Given the description of an element on the screen output the (x, y) to click on. 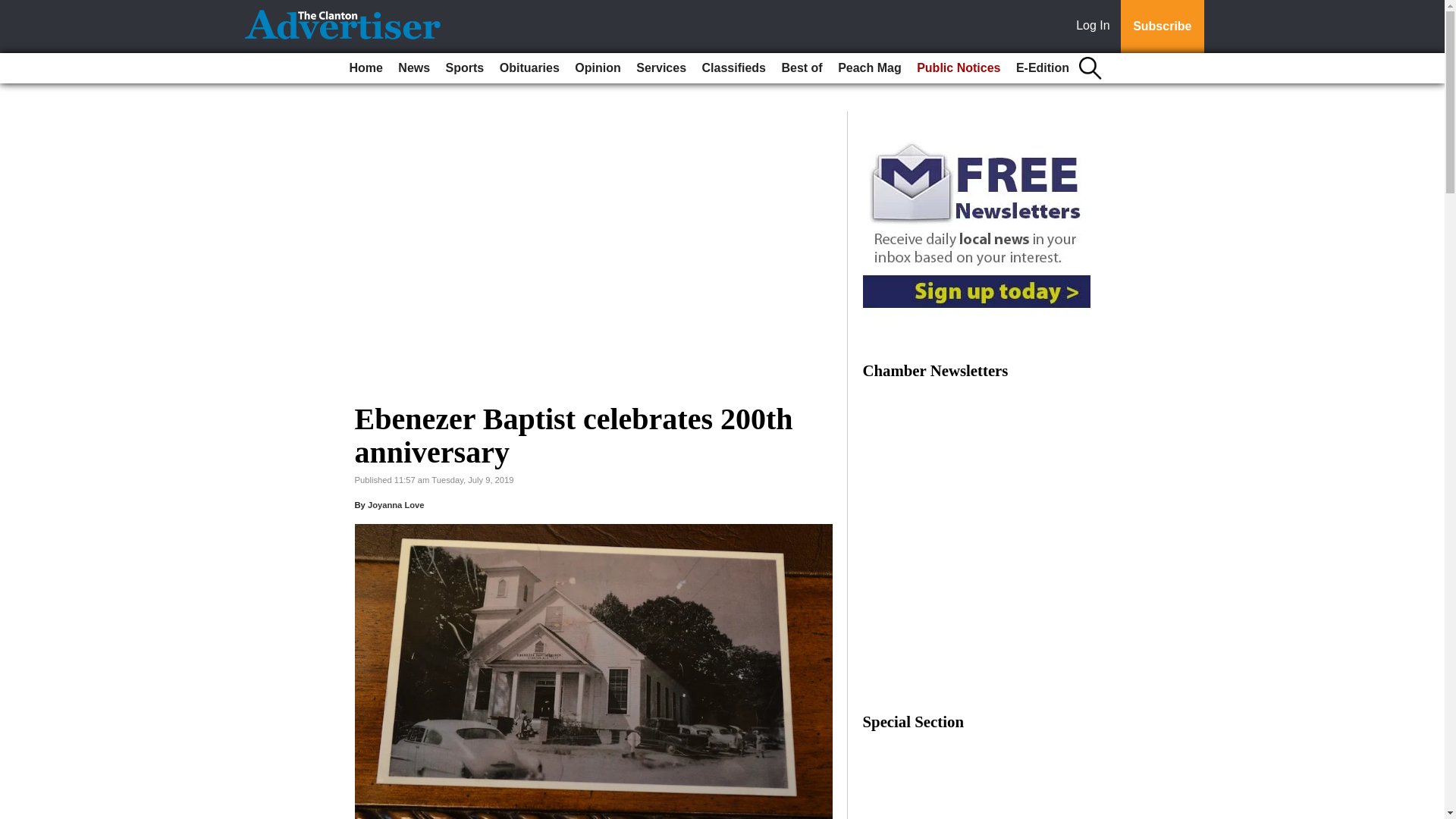
Public Notices (958, 68)
Log In (1095, 26)
Services (661, 68)
Subscribe (1162, 26)
News (413, 68)
E-Edition (1042, 68)
Classifieds (733, 68)
Best of (801, 68)
Joyanna Love (396, 504)
Sports (464, 68)
Go (13, 9)
Peach Mag (869, 68)
Obituaries (529, 68)
Home (365, 68)
Opinion (597, 68)
